Given the description of an element on the screen output the (x, y) to click on. 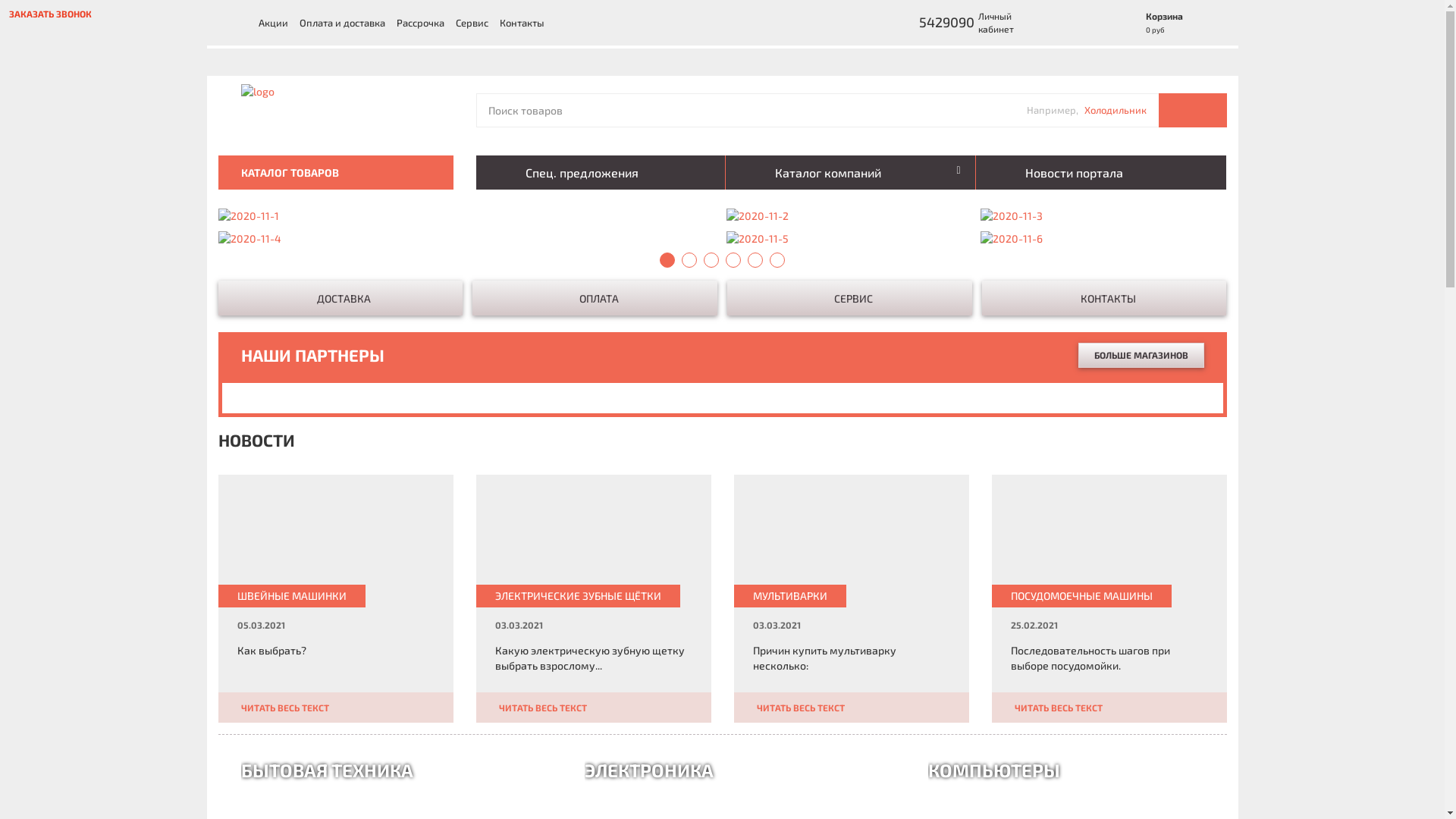
5429090 Element type: text (910, 22)
text_compare Element type: hover (1084, 22)
